Given the description of an element on the screen output the (x, y) to click on. 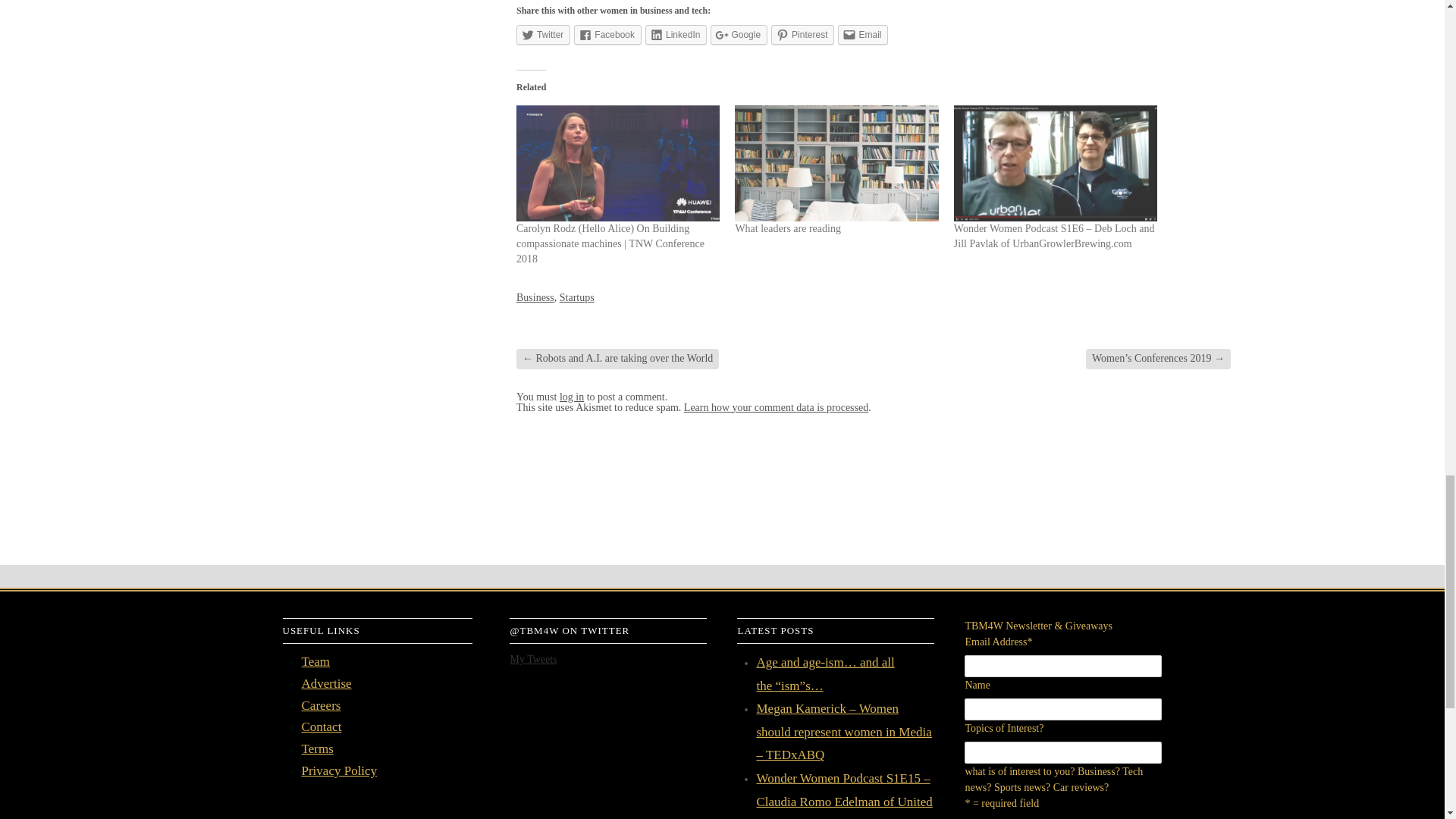
Team (315, 661)
What leaders are reading (788, 228)
log in (571, 396)
Advertise (326, 683)
Facebook (607, 35)
Learn how your comment data is processed (775, 407)
Pinterest (802, 35)
Careers (320, 705)
Startups (576, 297)
Terms (317, 748)
Contact (321, 726)
Google (738, 35)
Click to share on Facebook (607, 35)
Click to email this to a friend (863, 35)
Click to share on LinkedIn (675, 35)
